Given the description of an element on the screen output the (x, y) to click on. 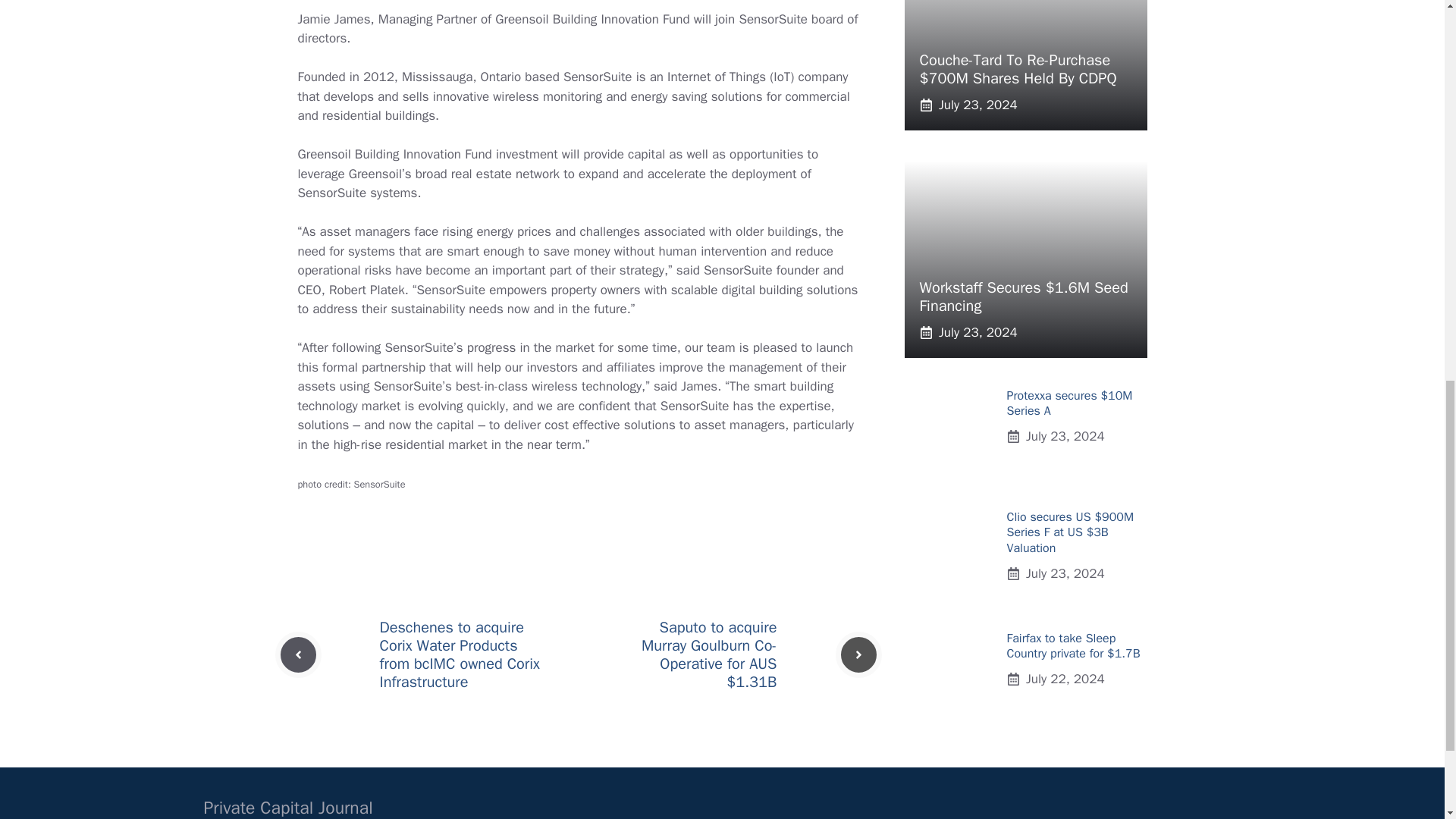
Scroll back to top (1406, 720)
